Given the description of an element on the screen output the (x, y) to click on. 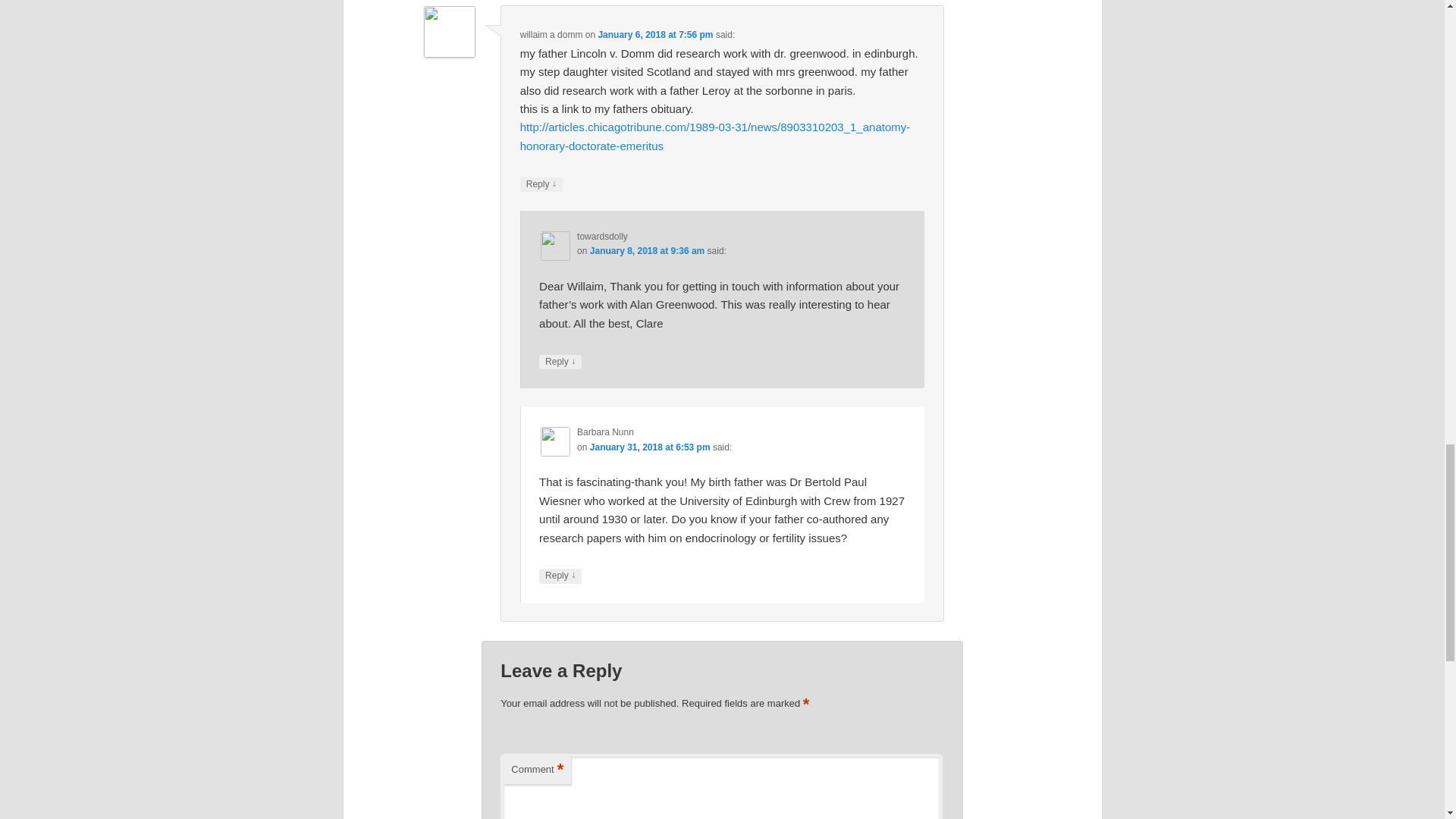
January 31, 2018 at 6:53 pm (649, 447)
January 6, 2018 at 7:56 pm (654, 34)
January 8, 2018 at 9:36 am (646, 250)
